Given the description of an element on the screen output the (x, y) to click on. 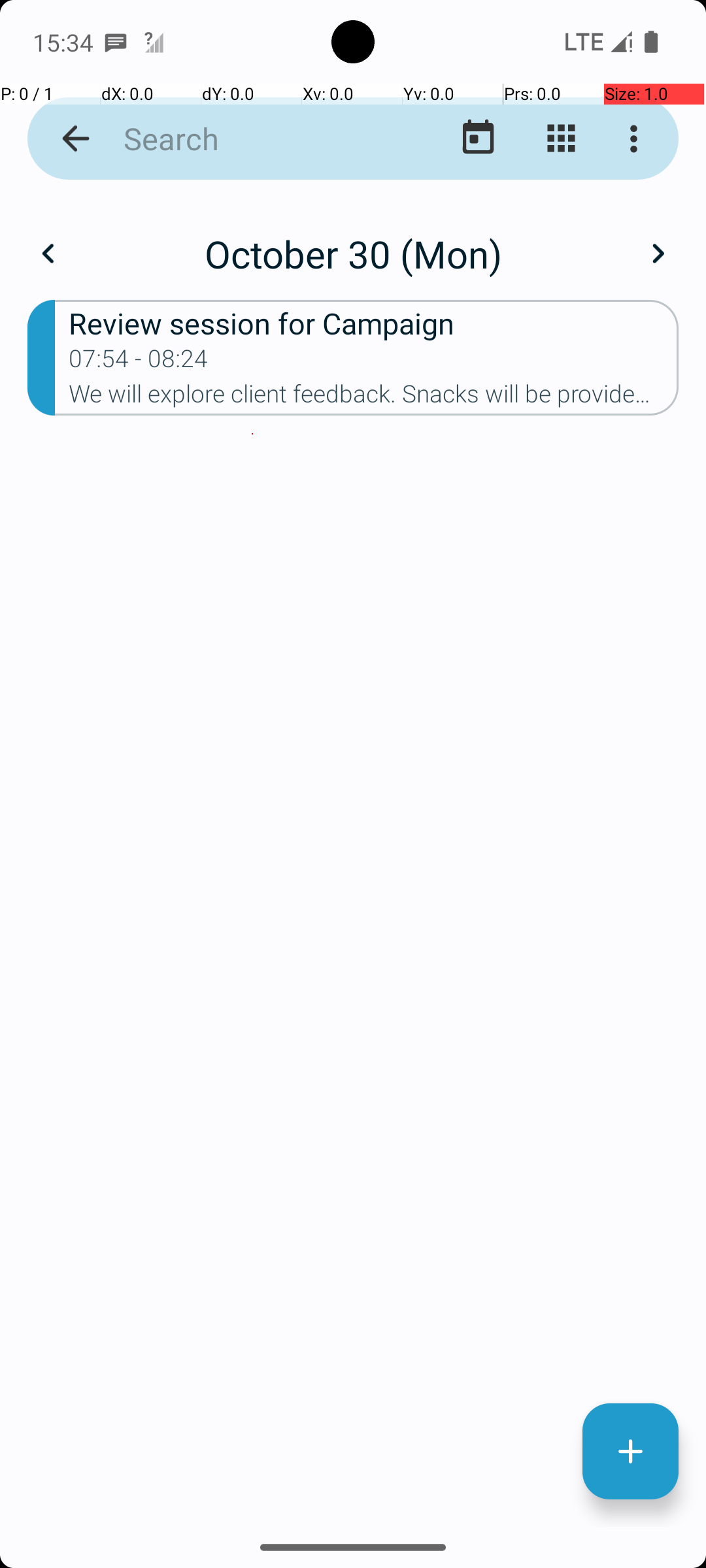
October 30 (Mon) Element type: android.widget.TextView (352, 253)
07:54 - 08:24 Element type: android.widget.TextView (137, 362)
We will explore client feedback. Snacks will be provided. Element type: android.widget.TextView (373, 397)
